Given the description of an element on the screen output the (x, y) to click on. 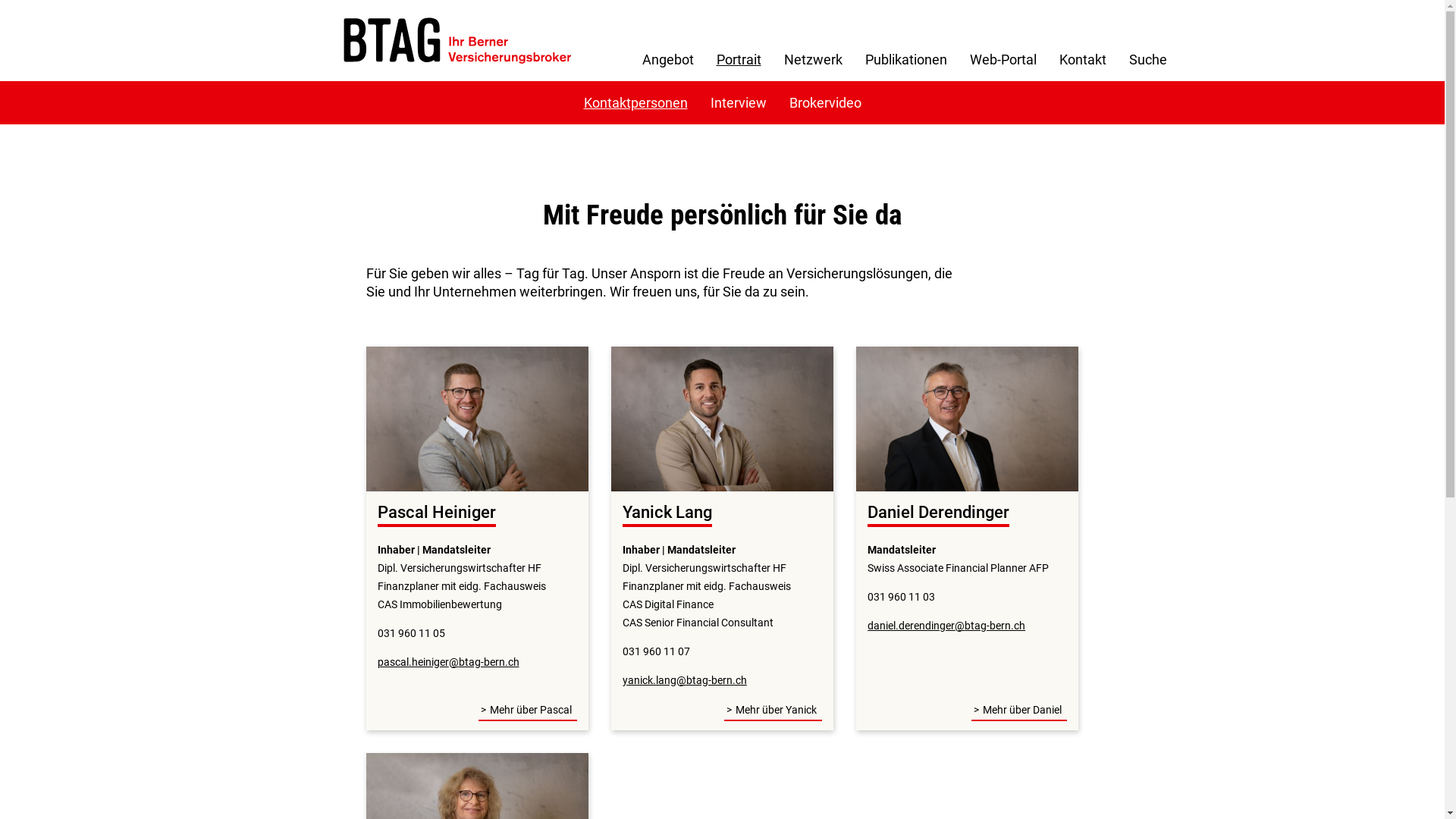
BTAG Versicherungs- & Anlageberatung AG Element type: hover (456, 40)
yanick.langbtag-bern.ch Element type: text (684, 680)
Portrait Element type: text (738, 59)
Publikationen Element type: text (905, 59)
pascal.heinigerbtag-bern.ch Element type: text (448, 661)
daniel.derendingerbtag-bern.ch Element type: text (946, 625)
Netzwerk Element type: text (812, 59)
Kontakt Element type: text (1082, 59)
Kontaktpersonen Element type: text (634, 102)
Interview Element type: text (738, 102)
Suche Element type: text (1147, 59)
Brokervideo Element type: text (825, 102)
Web-Portal Element type: text (1003, 59)
Angebot Element type: text (667, 59)
